Given the description of an element on the screen output the (x, y) to click on. 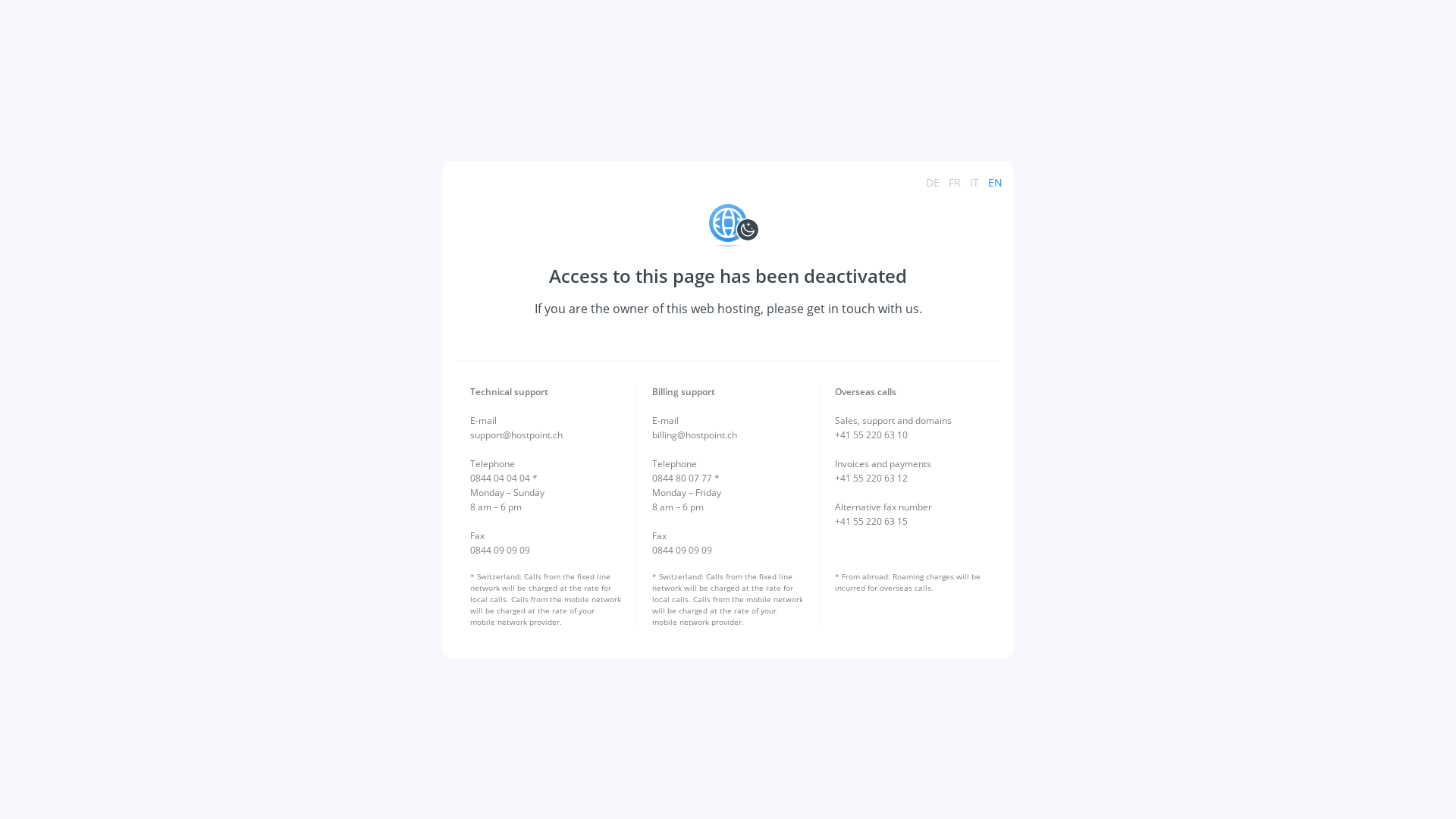
support@hostpoint.ch Element type: text (516, 434)
billing@hostpoint.ch Element type: text (694, 434)
